Given the description of an element on the screen output the (x, y) to click on. 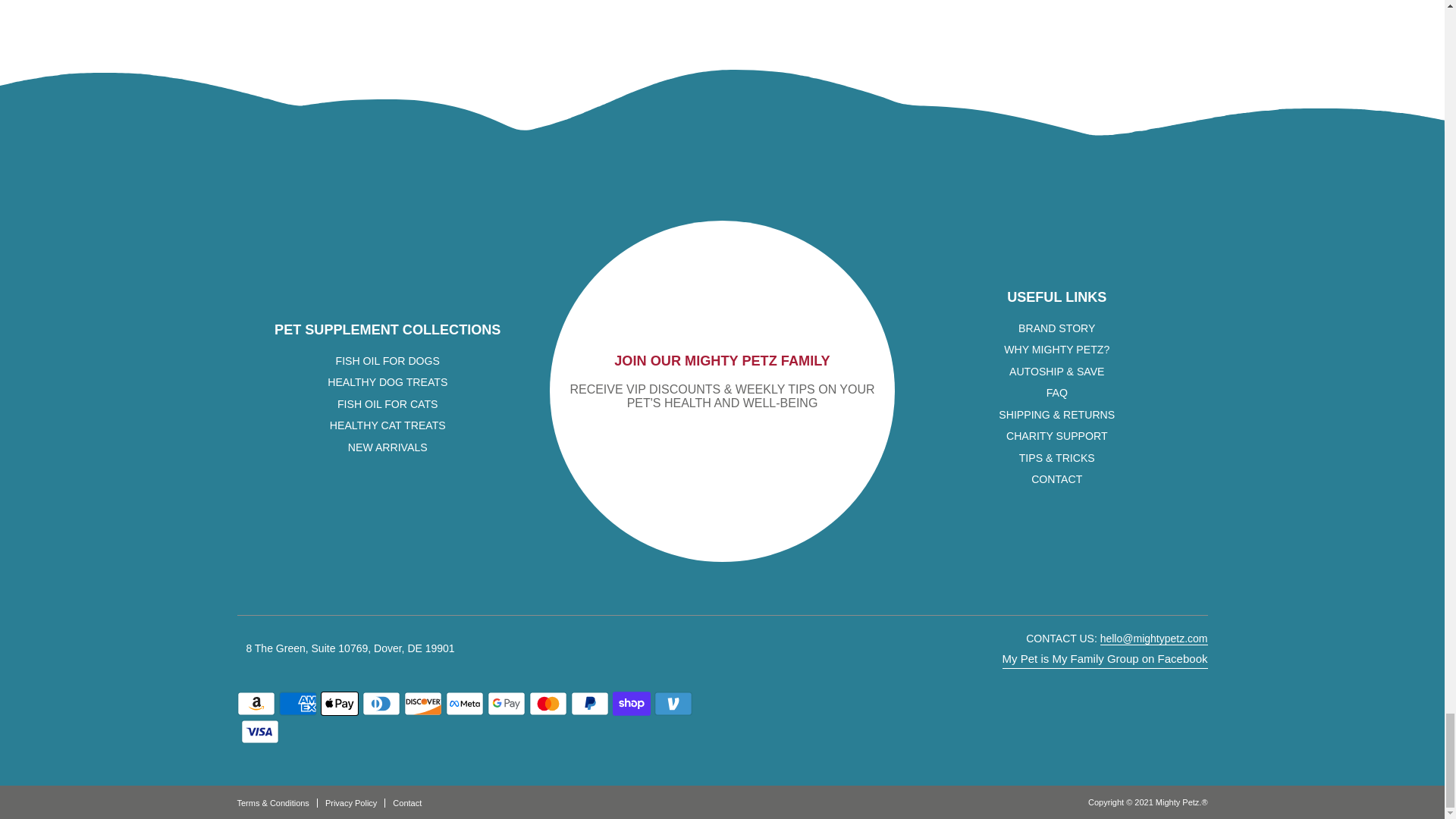
Healthy Dog Treats (386, 381)
Privacy (354, 802)
Contact (407, 802)
WHY MIGHTY PETZ? (1056, 349)
Healthy Cat Treats (387, 425)
Contact (1055, 479)
Fish Oil For Cats (387, 404)
Brand Story (1055, 328)
Terms (276, 802)
New Arrivals (387, 447)
Fish Oil For Dogs (387, 360)
Charity Support (1057, 435)
Faq (1056, 392)
